Given the description of an element on the screen output the (x, y) to click on. 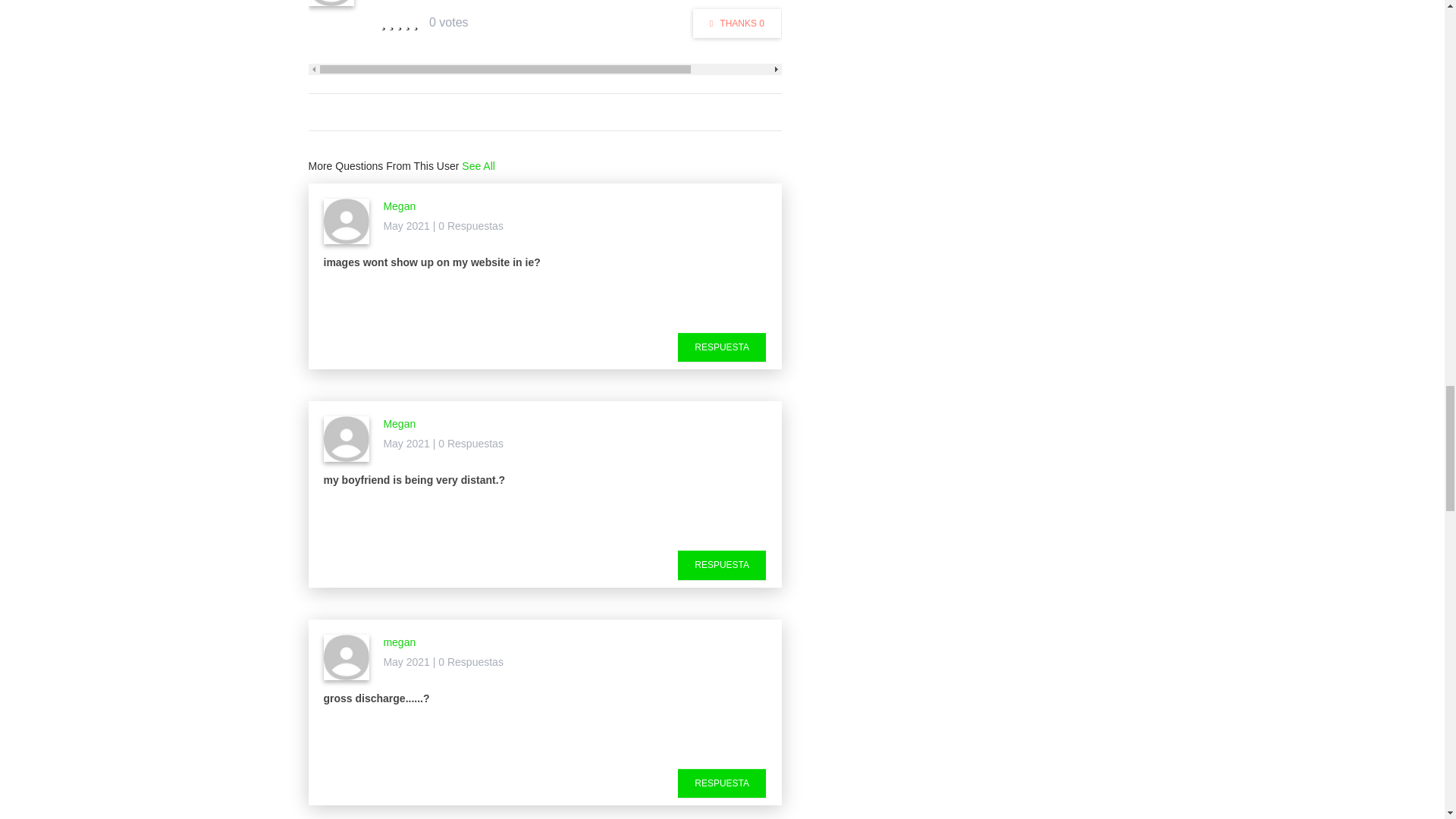
See All (478, 165)
